Given the description of an element on the screen output the (x, y) to click on. 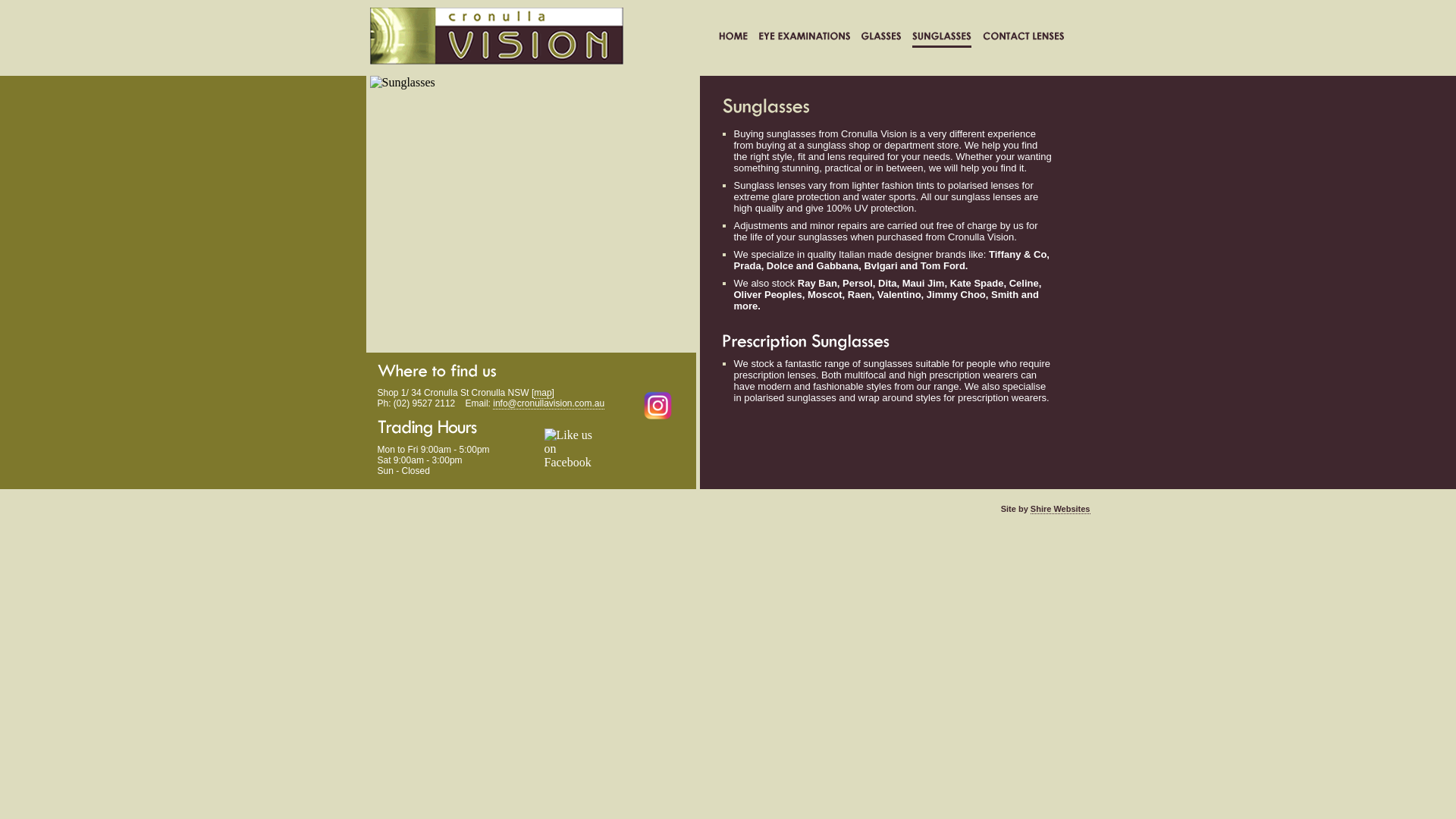
Glasses Element type: text (880, 39)
Contact Lenses Element type: text (1022, 39)
Shire Websites Element type: text (1060, 509)
Sunglasses Element type: text (940, 39)
info@cronullavision.com.au Element type: text (548, 403)
map Element type: text (542, 392)
Home Element type: text (732, 39)
Eye Examinations Element type: text (803, 39)
